Given the description of an element on the screen output the (x, y) to click on. 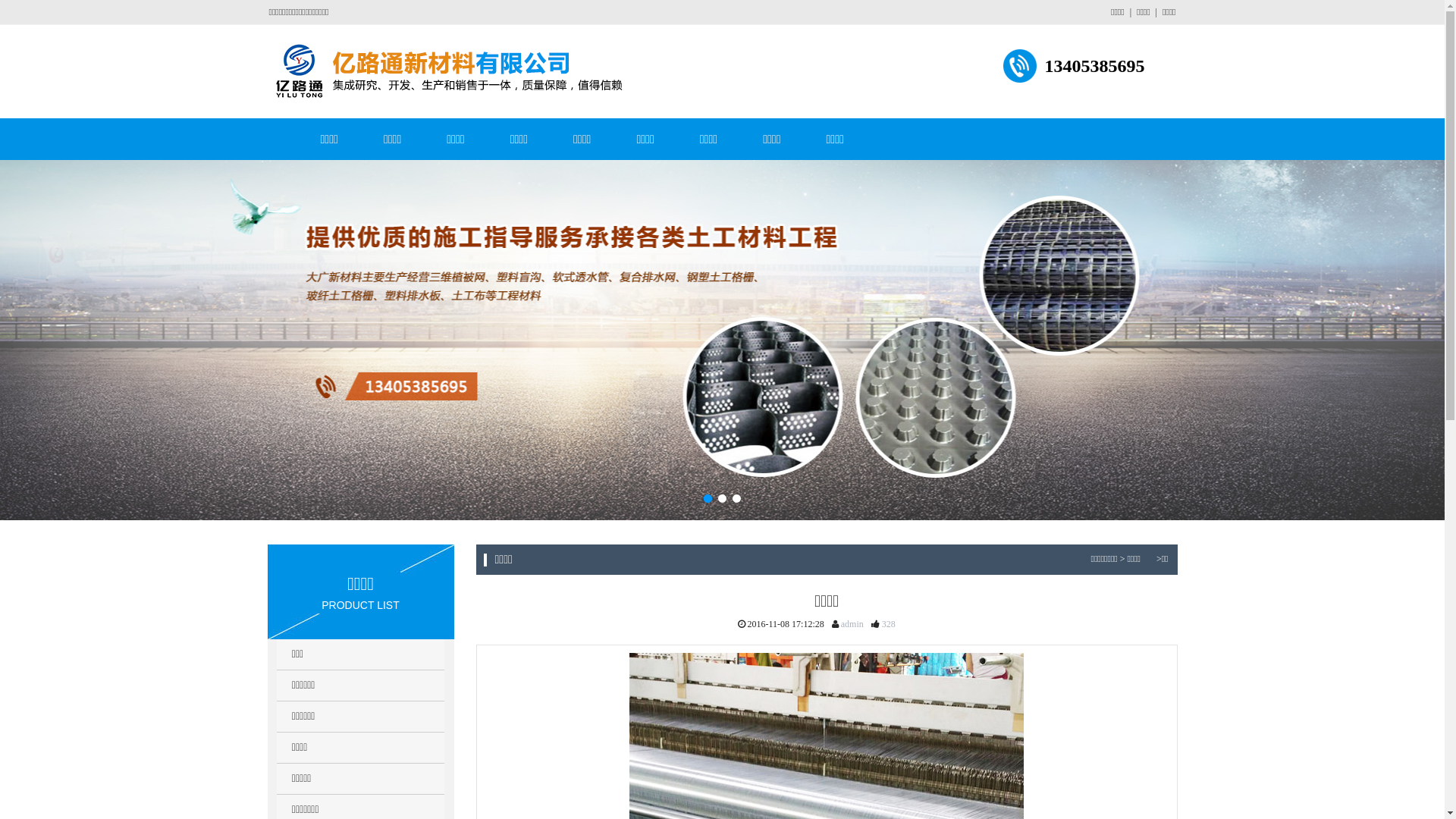
328 Element type: text (887, 623)
admin Element type: text (850, 623)
